Given the description of an element on the screen output the (x, y) to click on. 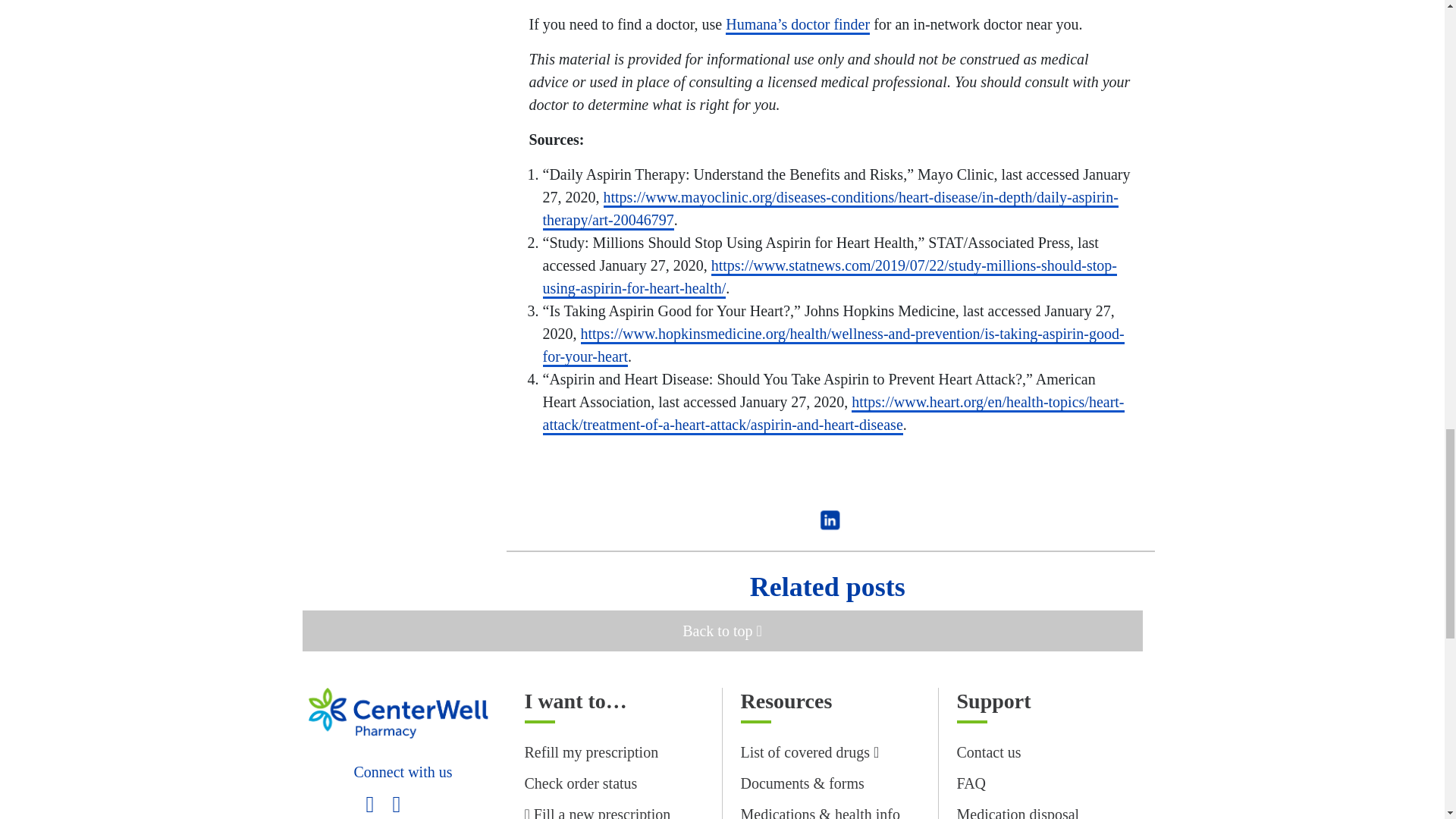
List of covered drugs (809, 751)
Documents and Forms (801, 782)
Fill a new prescription (597, 812)
FAQs (971, 782)
Medication Disposal (1018, 812)
Go to check order status (580, 782)
Go to Refill prescription (591, 751)
Contact Us (989, 751)
